Given the description of an element on the screen output the (x, y) to click on. 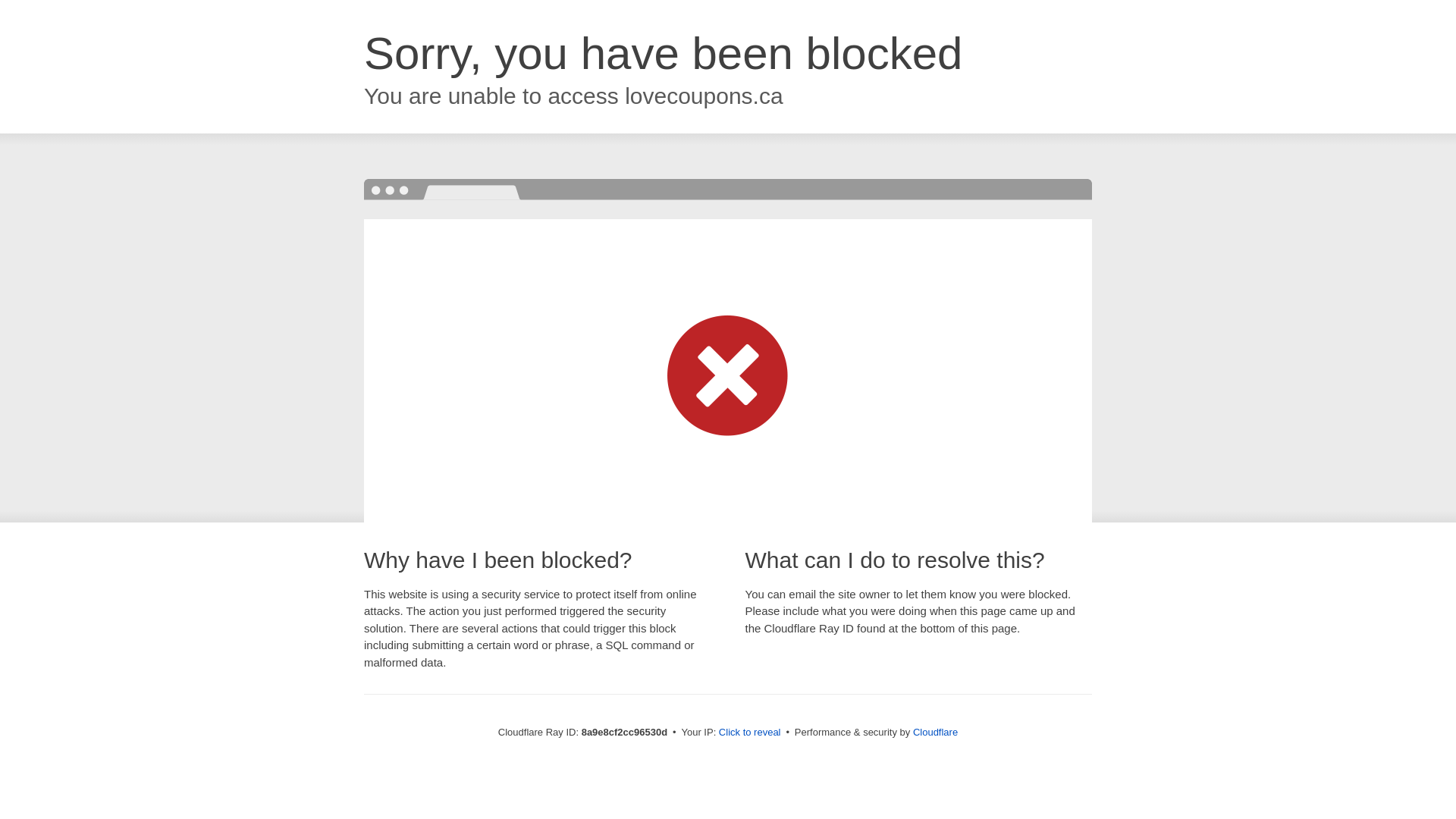
Click to reveal (749, 732)
Cloudflare (935, 731)
